Given the description of an element on the screen output the (x, y) to click on. 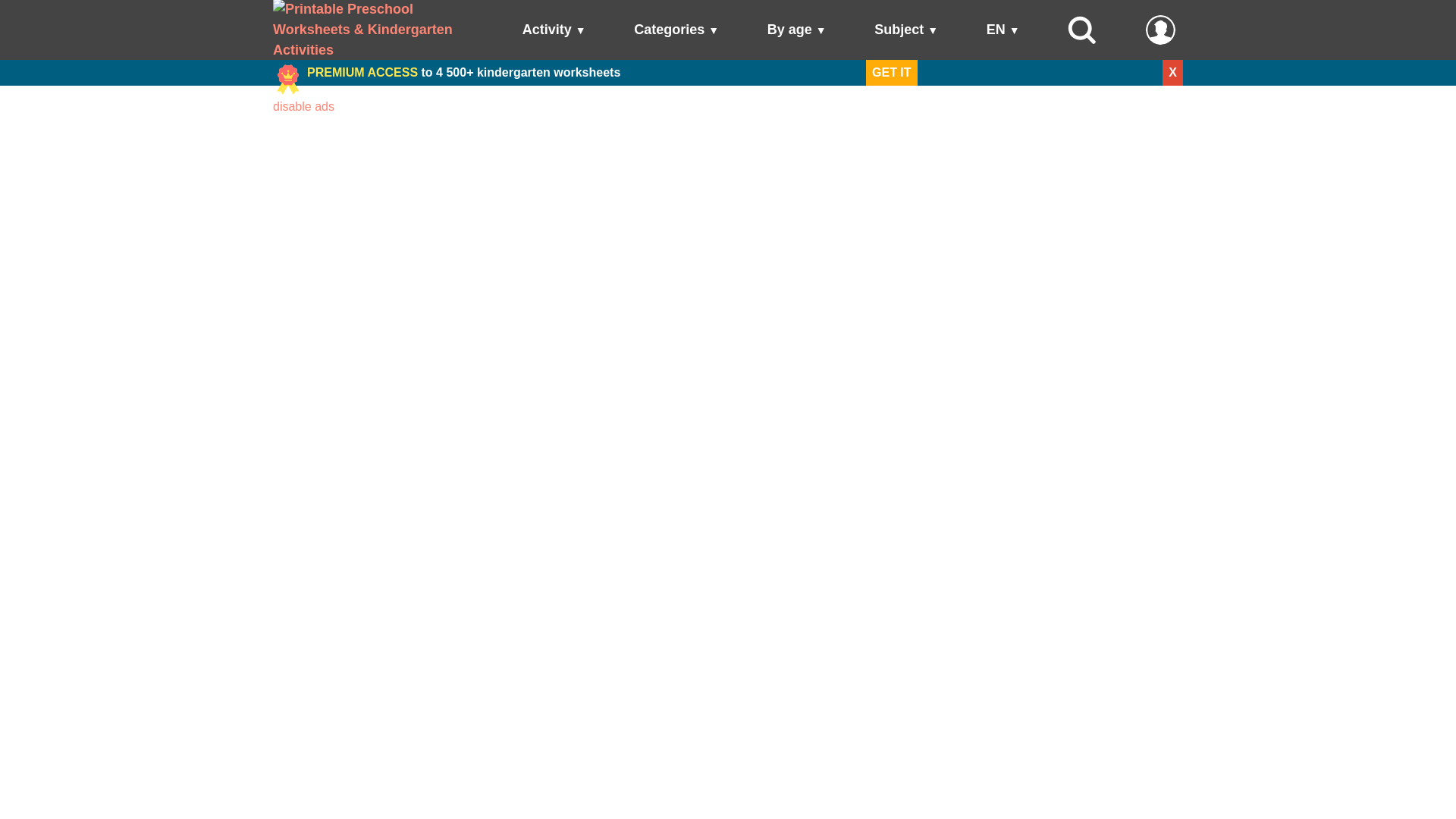
disable ads (303, 106)
Disable all ads on the site (303, 106)
